Given the description of an element on the screen output the (x, y) to click on. 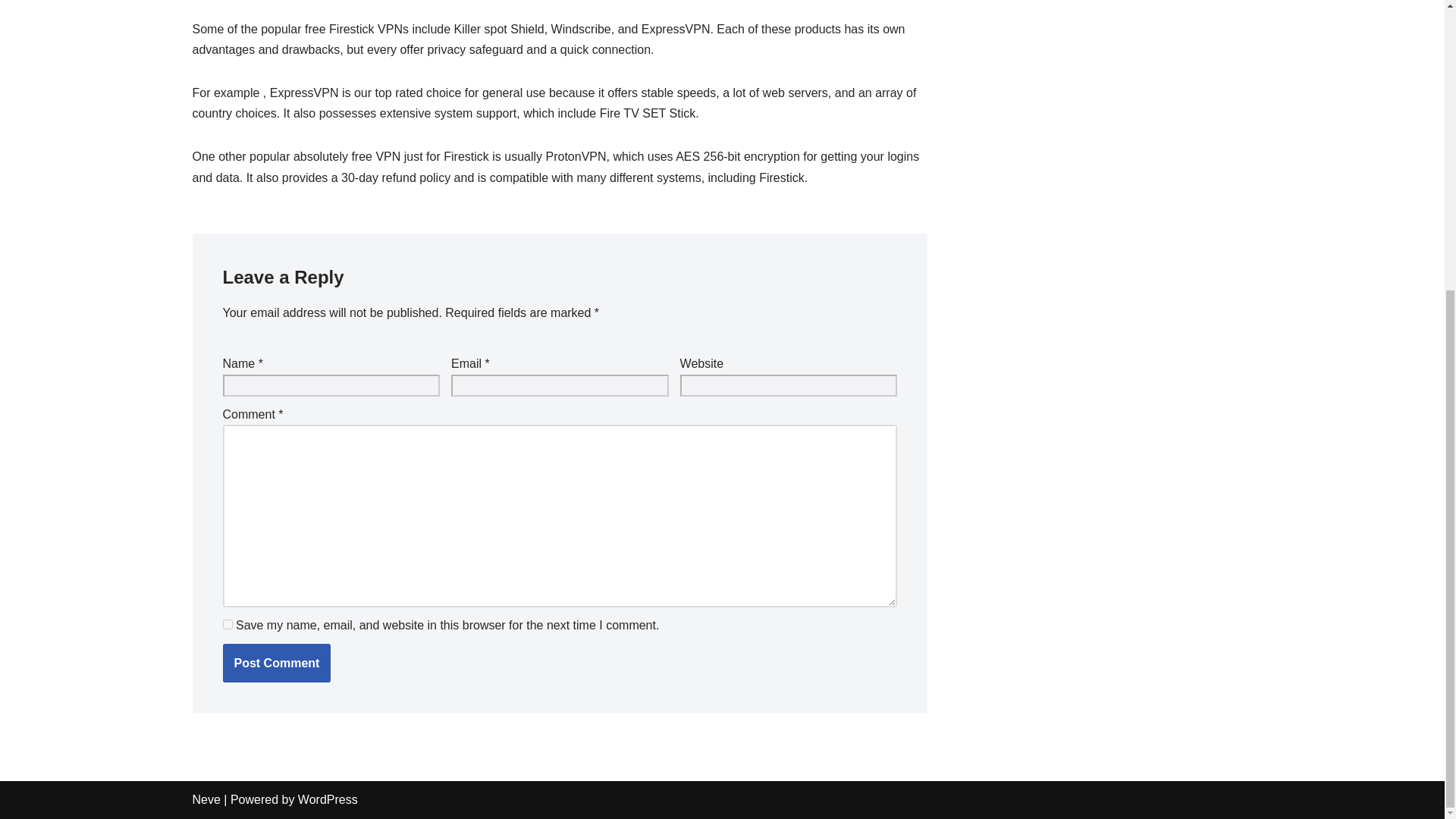
Neve (206, 799)
Post Comment (276, 663)
Post Comment (276, 663)
WordPress (328, 799)
yes (227, 624)
